Given the description of an element on the screen output the (x, y) to click on. 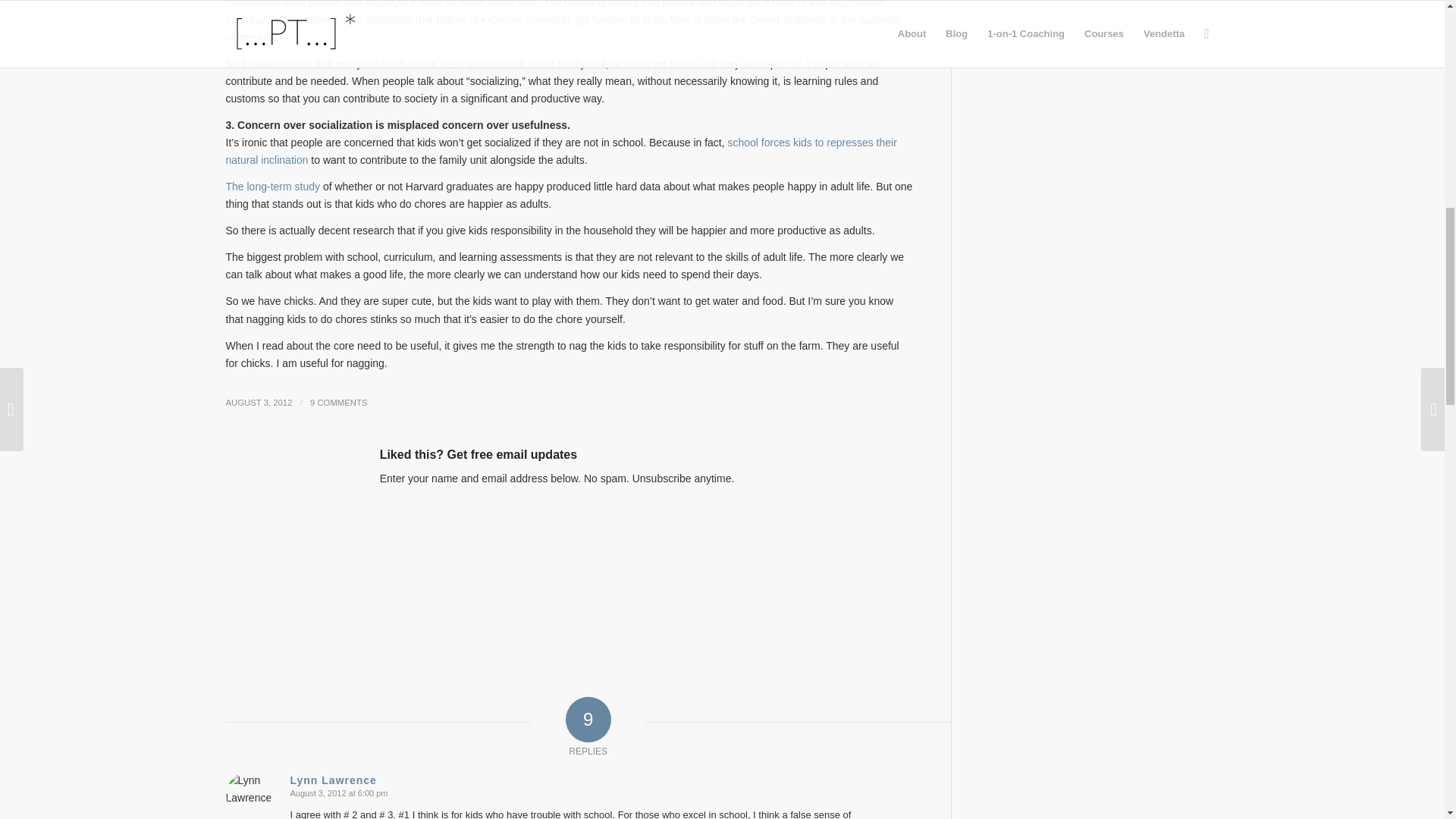
school forces kids to represses their natural inclination (560, 151)
Form 0 (569, 581)
August 3, 2012 at 6:00 pm (338, 792)
9 COMMENTS (339, 402)
Lynn Lawrence (332, 779)
The long-term study (272, 186)
